Given the description of an element on the screen output the (x, y) to click on. 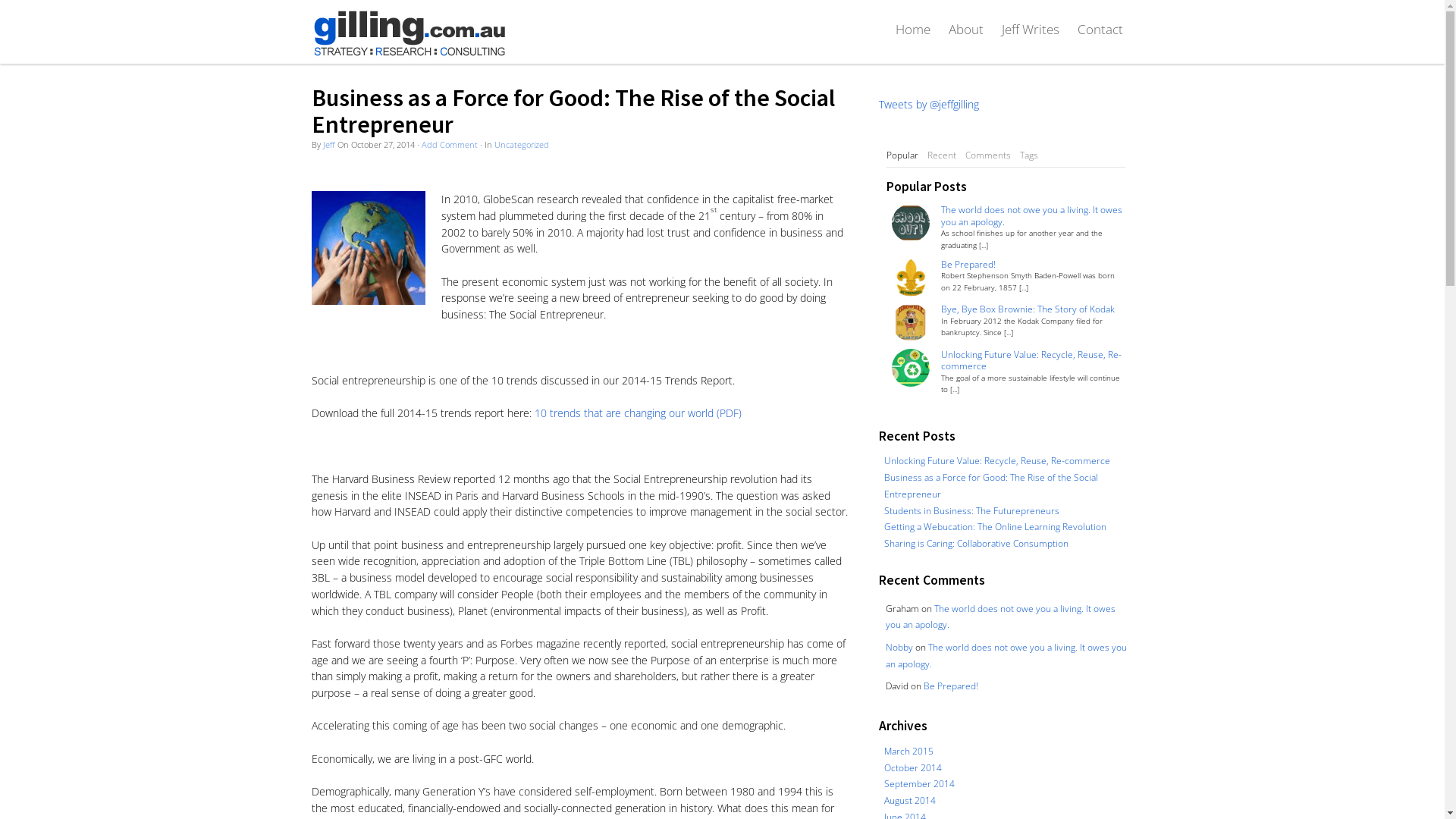
Getting a Webucation: The Online Learning Revolution Element type: text (995, 526)
Be Prepared! Element type: text (1032, 263)
August 2014 Element type: text (909, 799)
Comments Element type: text (987, 155)
Add Comment Element type: text (449, 144)
Contact Element type: text (1099, 29)
Jeff Writes Element type: text (1029, 29)
gilling.com.au Element type: hover (408, 33)
March 2015 Element type: text (908, 750)
Tweets by @jeffgilling Element type: text (928, 104)
September 2014 Element type: text (919, 783)
Unlocking Future Value: Recycle, Reuse, Re-commerce Element type: text (1032, 360)
Uncategorized Element type: text (521, 144)
The world does not owe you a living. It owes you an apology. Element type: text (1005, 654)
Recent Element type: text (941, 155)
Be Prepared! Element type: text (950, 685)
The world does not owe you a living. It owes you an apology. Element type: text (1032, 215)
10 trends that are changing our world (PDF) Element type: text (636, 412)
Home Element type: text (911, 29)
Tags Element type: text (1028, 155)
Popular Element type: text (902, 155)
October 2014 Element type: text (912, 767)
The world does not owe you a living. It owes you an apology. Element type: text (1000, 616)
Nobby Element type: text (899, 646)
About Element type: text (964, 29)
Sharing is Caring: Collaborative Consumption Element type: text (976, 542)
Students in Business: The Futurepreneurs Element type: text (971, 510)
Bye, Bye Box Brownie: The Story of Kodak Element type: text (1032, 308)
Jeff Element type: text (329, 144)
Unlocking Future Value: Recycle, Reuse, Re-commerce Element type: text (997, 460)
